Given the description of an element on the screen output the (x, y) to click on. 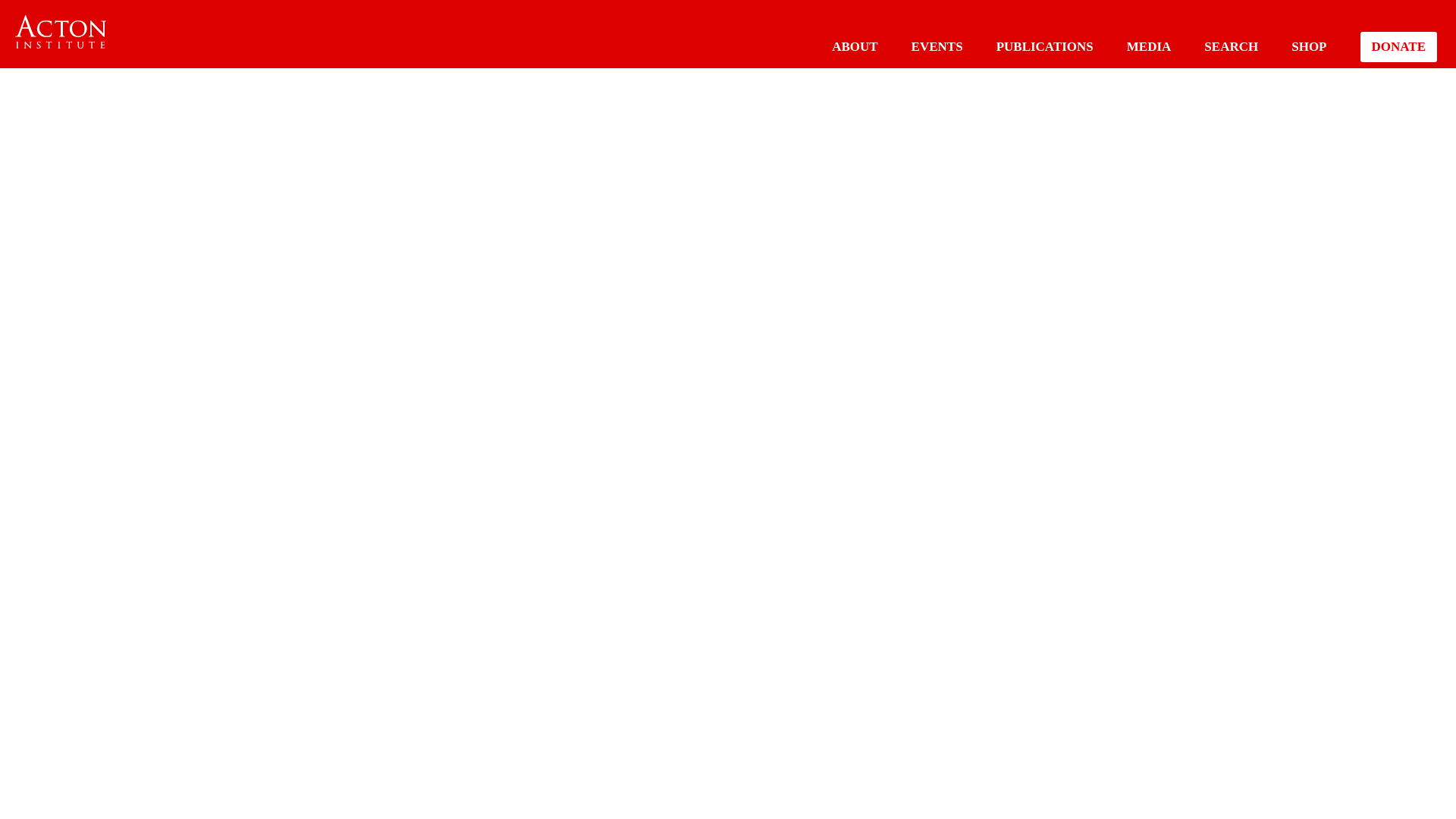
MEDIA (1149, 46)
The Acton Institute (60, 31)
SHOP (1308, 46)
SEARCH (1230, 46)
PUBLICATIONS (1044, 46)
ABOUT (854, 46)
DONATE (1398, 46)
EVENTS (936, 46)
